Given the description of an element on the screen output the (x, y) to click on. 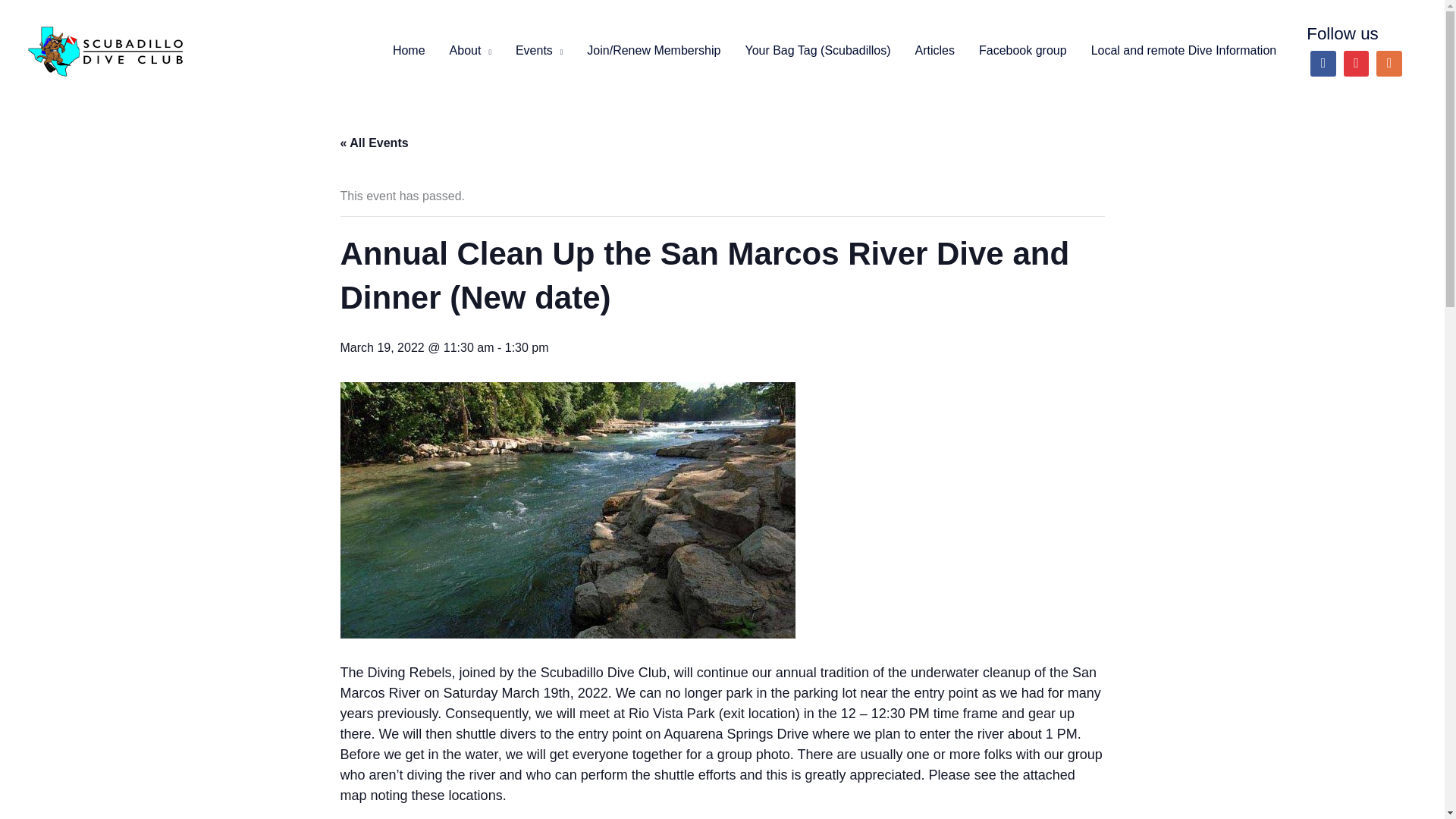
Home (409, 50)
Facebook (1322, 63)
Articles (934, 50)
About (470, 50)
Local and remote Dive Information (1183, 50)
Facebook group (1022, 50)
Instagram (1389, 63)
Meetup (1356, 63)
Events (539, 50)
